Given the description of an element on the screen output the (x, y) to click on. 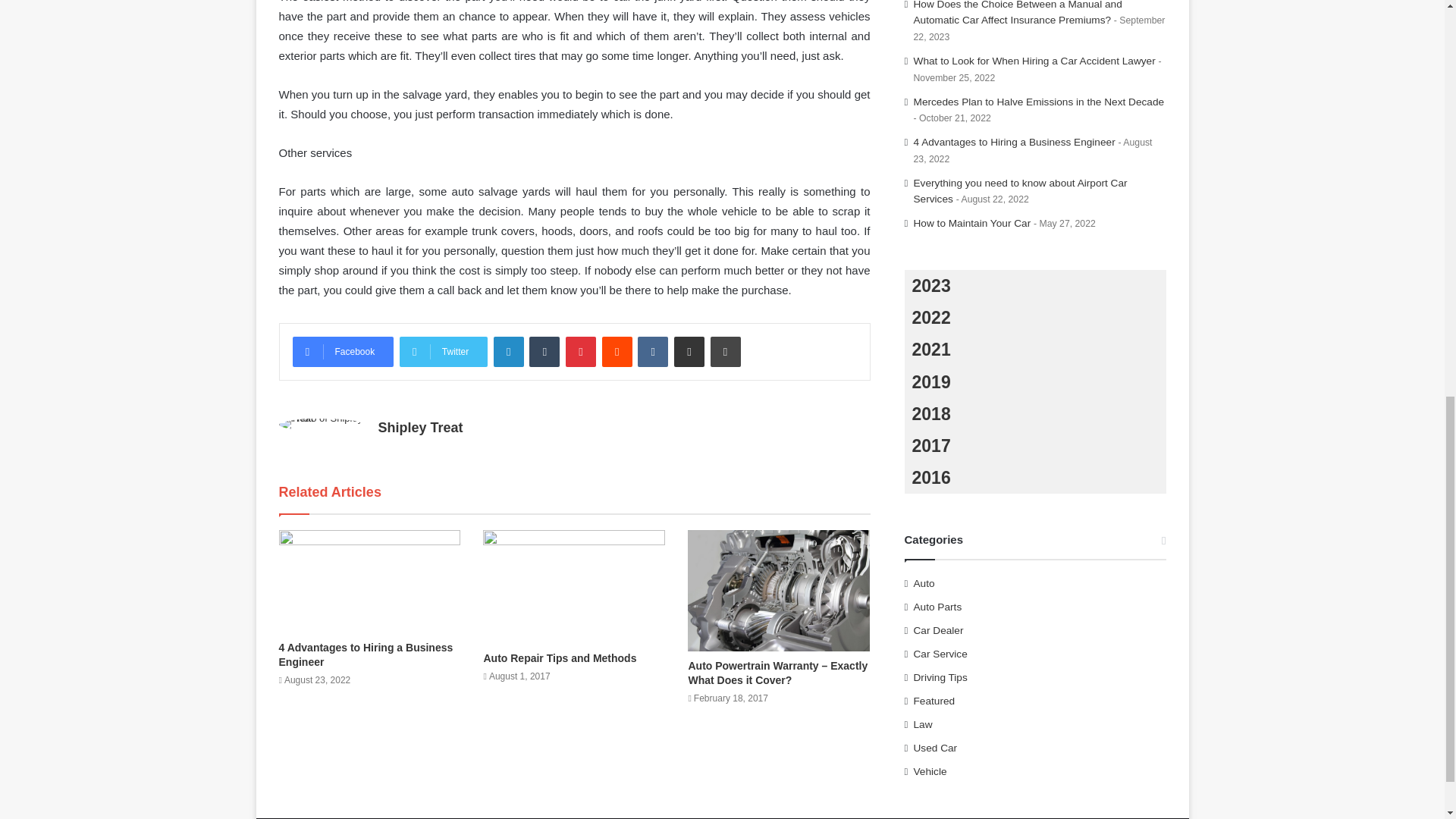
Tumblr (544, 351)
Print (725, 351)
Facebook (343, 351)
Share via Email (689, 351)
LinkedIn (508, 351)
LinkedIn (508, 351)
Print (725, 351)
Twitter (442, 351)
Shipley Treat (420, 427)
Share via Email (689, 351)
Pinterest (580, 351)
Reddit (616, 351)
Twitter (442, 351)
Auto Repair Tips and Methods (559, 657)
VKontakte (652, 351)
